Given the description of an element on the screen output the (x, y) to click on. 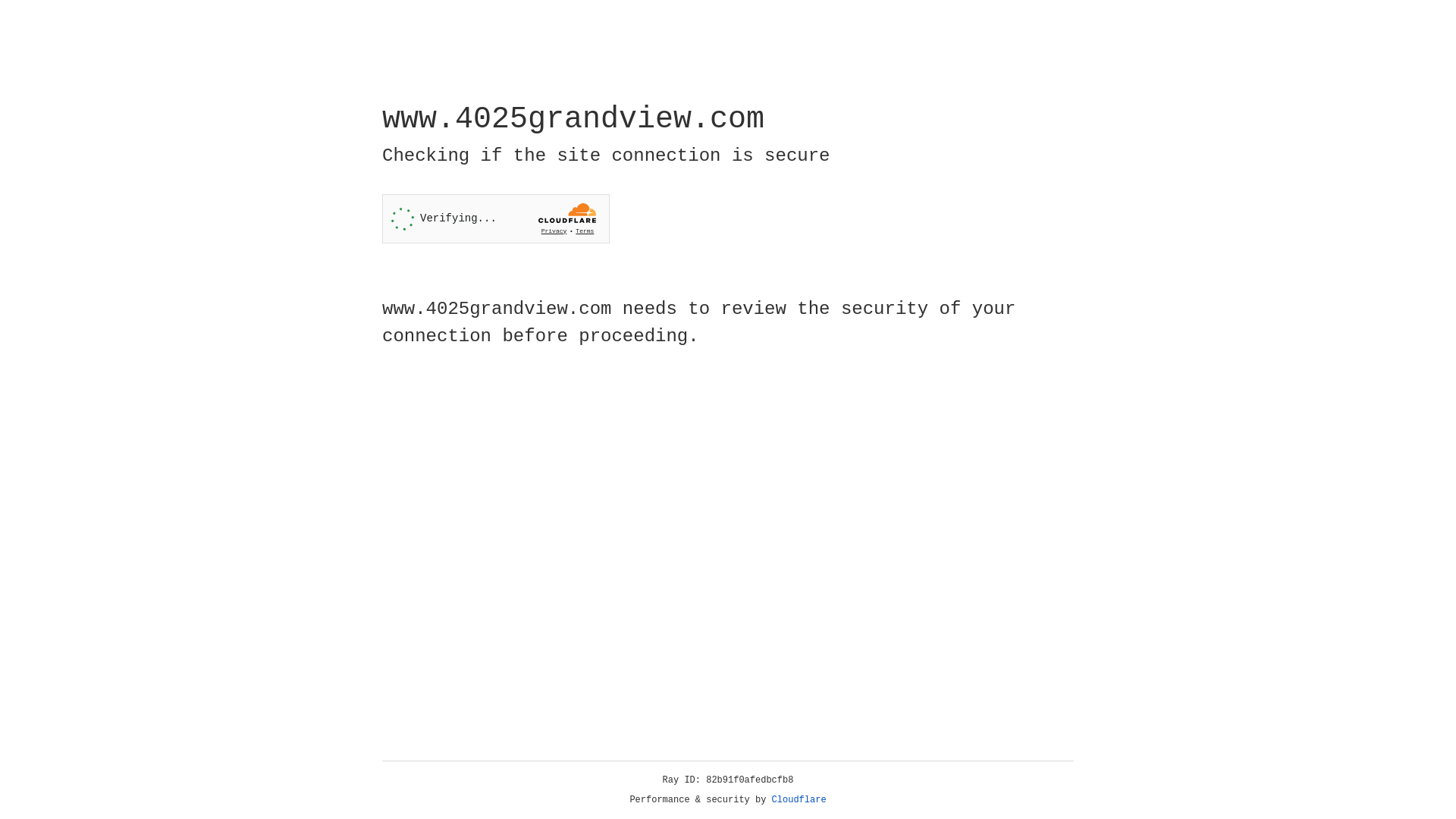
Cloudflare Element type: text (798, 799)
Widget containing a Cloudflare security challenge Element type: hover (495, 218)
